Given the description of an element on the screen output the (x, y) to click on. 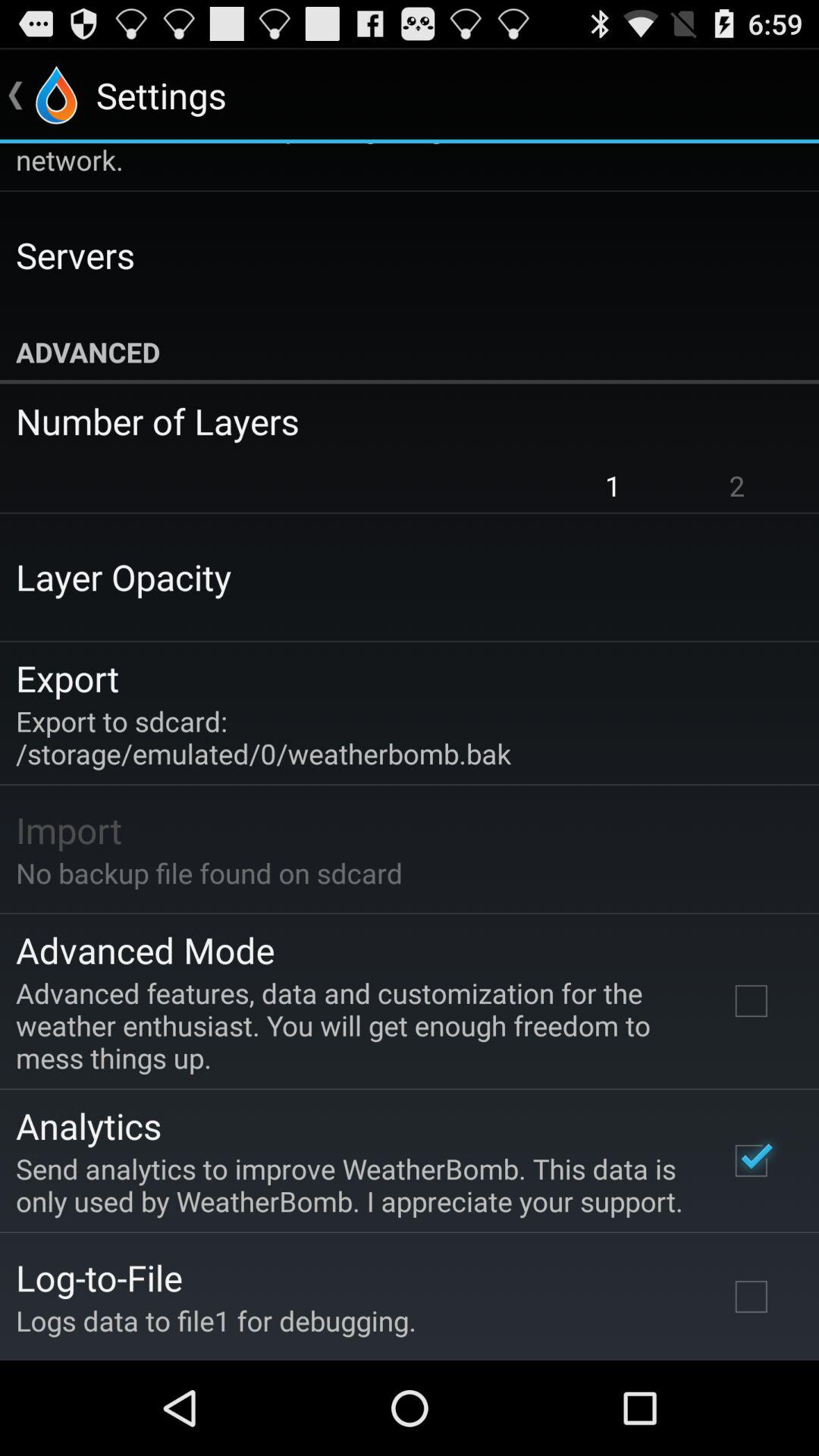
select send analytics to app (351, 1184)
